Given the description of an element on the screen output the (x, y) to click on. 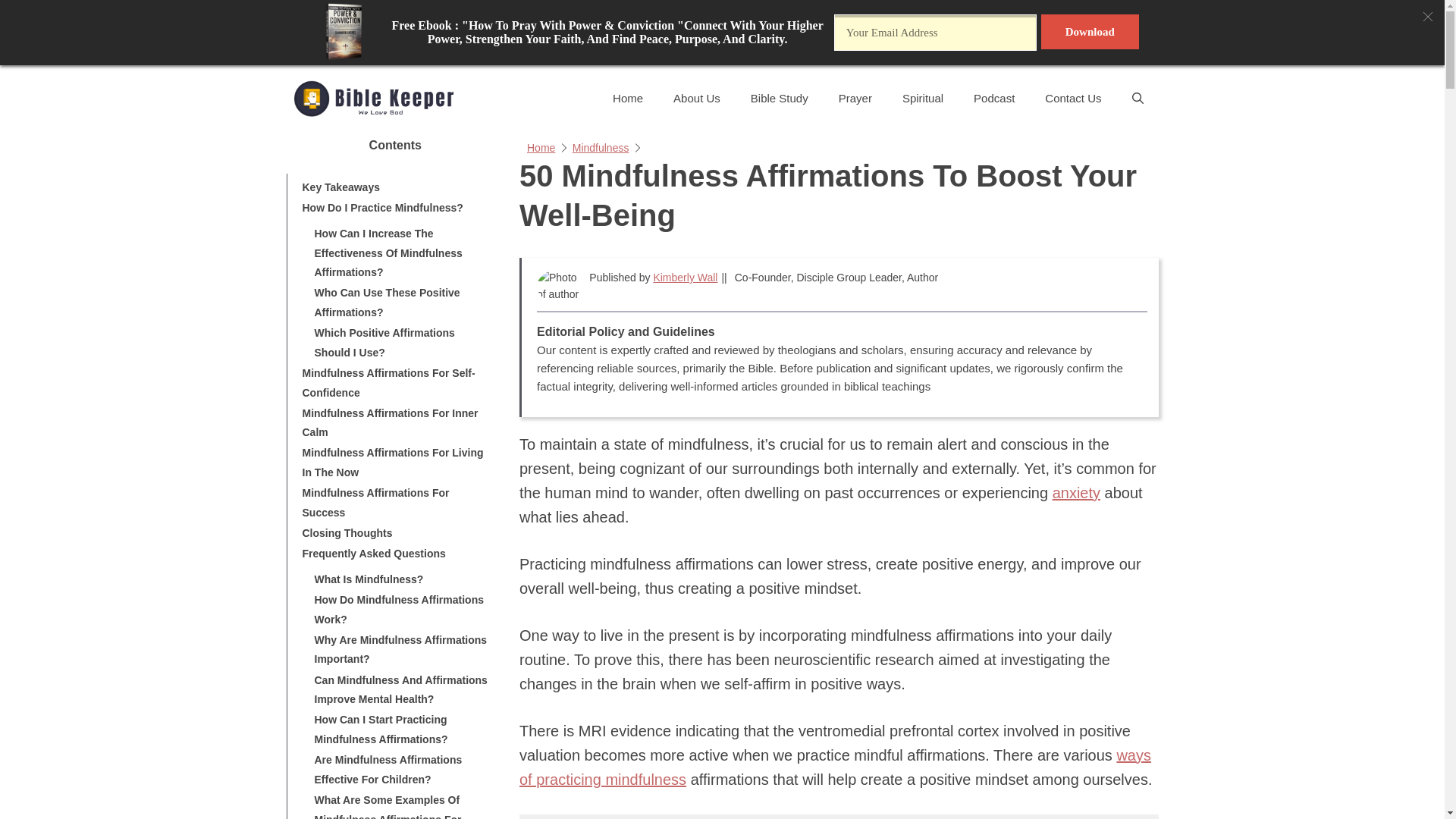
Podcast (993, 97)
Kimberly Wall (684, 277)
ways of practicing mindfulness (835, 766)
Home (540, 147)
About Us (696, 97)
Home (627, 97)
anxiety (1076, 492)
Bible Study (779, 97)
Contact Us (1072, 97)
Mindfulness (600, 147)
Spiritual (922, 97)
Prayer (855, 97)
